Given the description of an element on the screen output the (x, y) to click on. 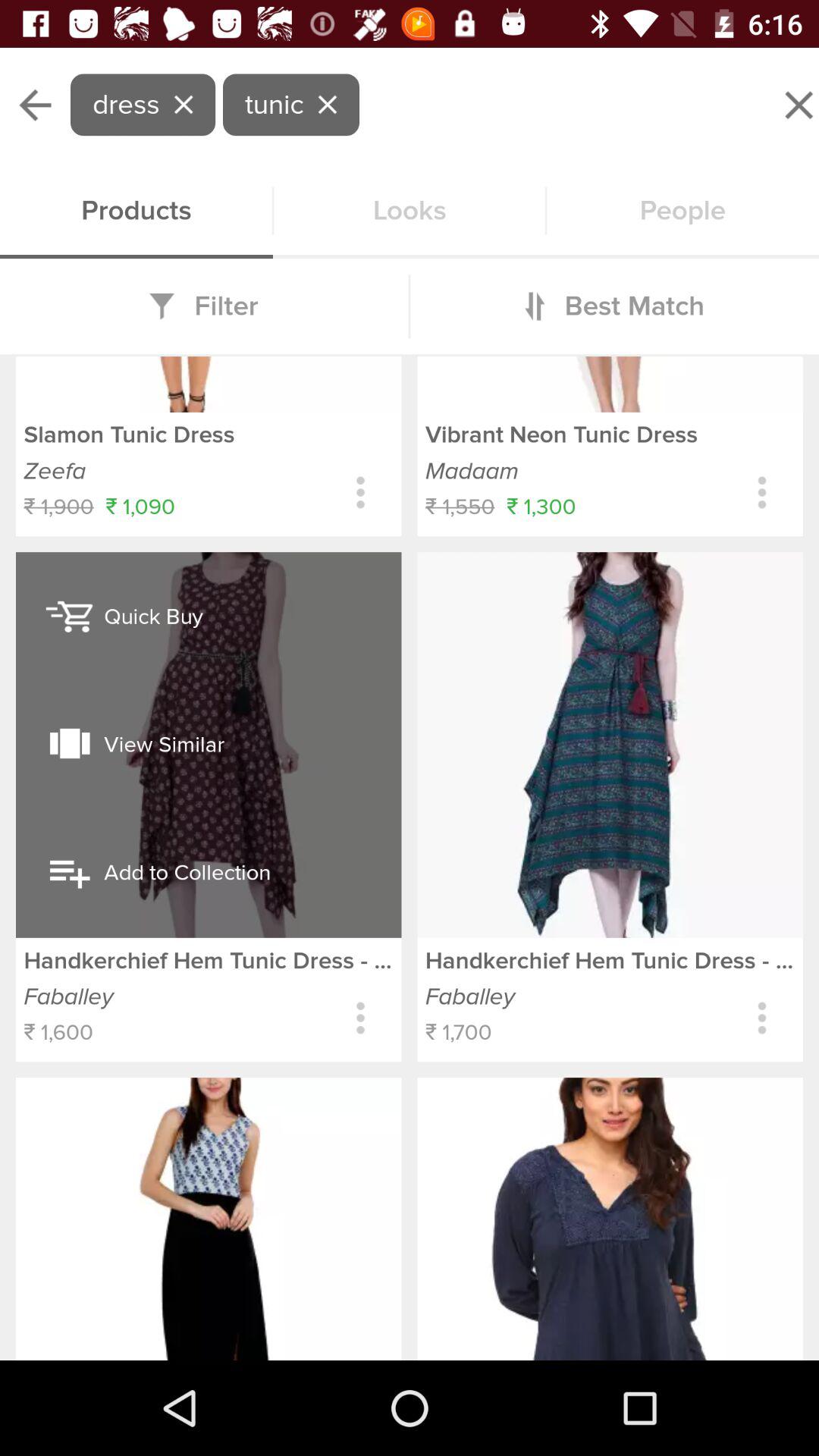
select an item (409, 809)
